Given the description of an element on the screen output the (x, y) to click on. 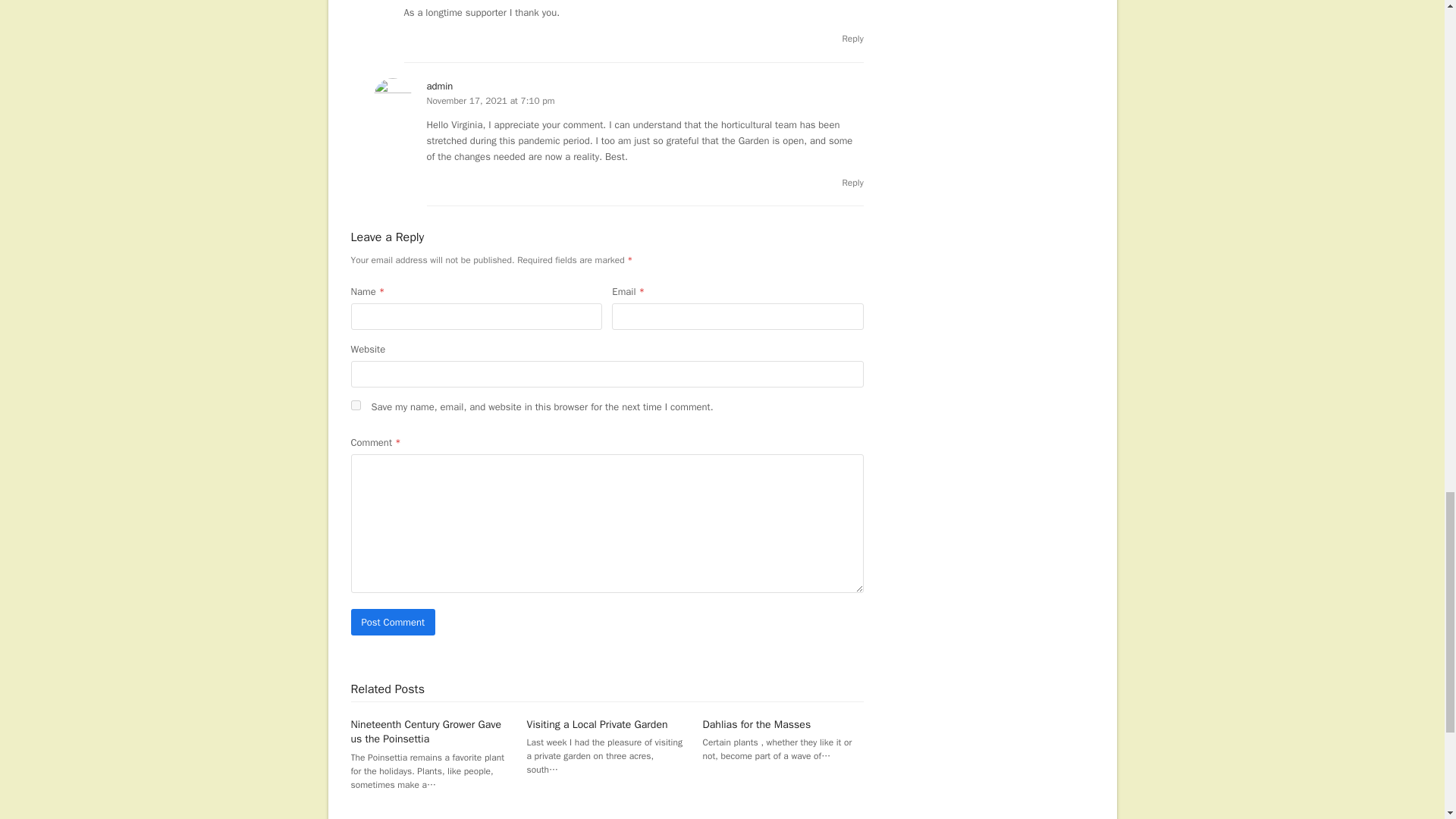
yes (354, 405)
Reply (852, 38)
Visiting a Local Private Garden (597, 724)
Post Comment (392, 622)
November 17, 2021 at 7:10 pm (490, 101)
Dahlias for the Masses (756, 724)
Post Comment (392, 622)
Reply (852, 182)
Nineteenth Century Grower Gave us the Poinsettia (425, 731)
